Given the description of an element on the screen output the (x, y) to click on. 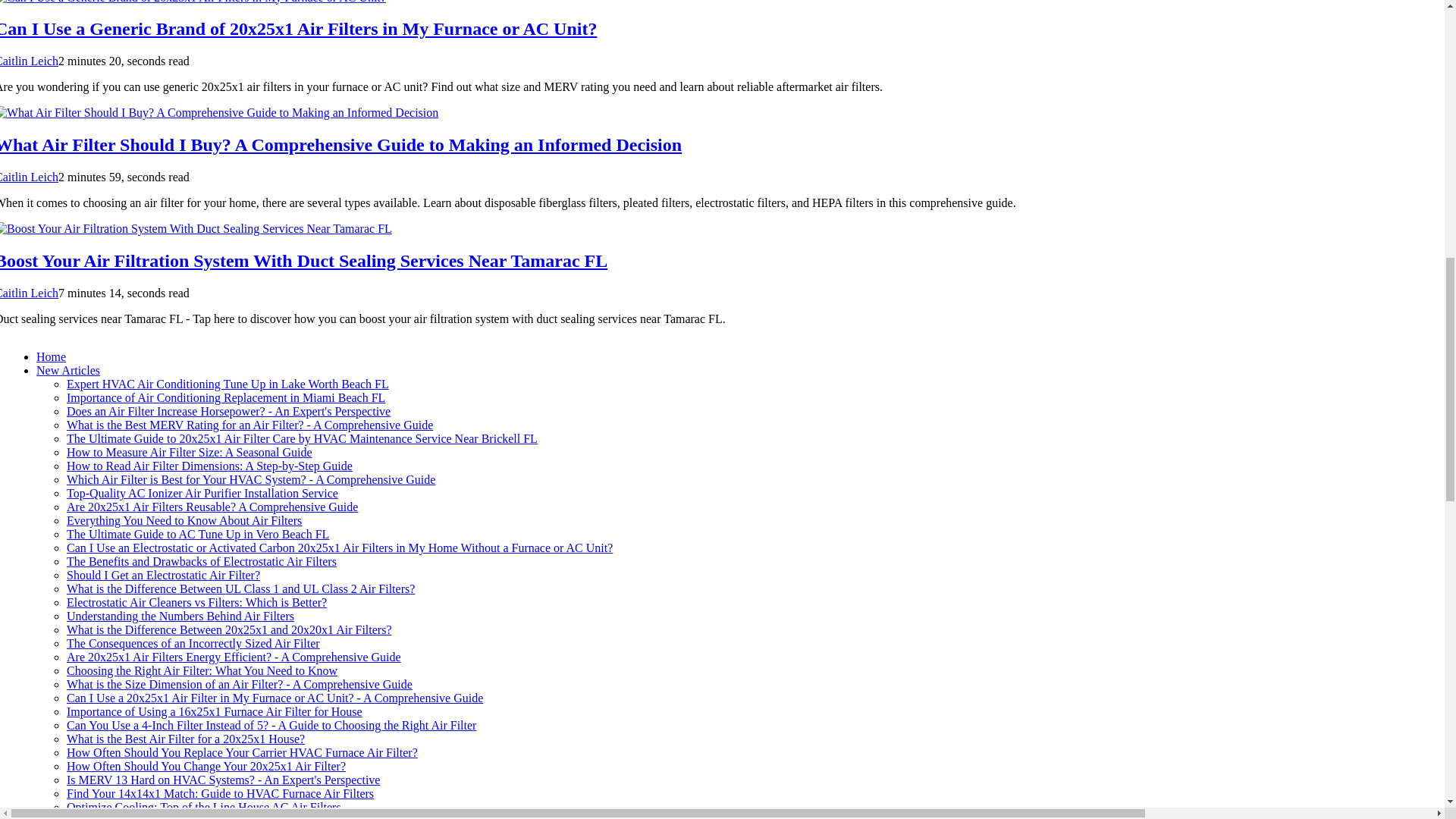
Importance of Air Conditioning Replacement in Miami Beach FL (225, 397)
The Benefits and Drawbacks of Electrostatic Air Filters (201, 561)
Expert HVAC Air Conditioning Tune Up in Lake Worth Beach FL (227, 383)
How to Measure Air Filter Size: A Seasonal Guide (189, 451)
How to Read Air Filter Dimensions: A Step-by-Step Guide (209, 465)
Caitlin Leich (29, 60)
Top-Quality AC Ionizer Air Purifier Installation Service (201, 492)
Posts by Caitlin Leich (29, 60)
New Articles (68, 369)
